Given the description of an element on the screen output the (x, y) to click on. 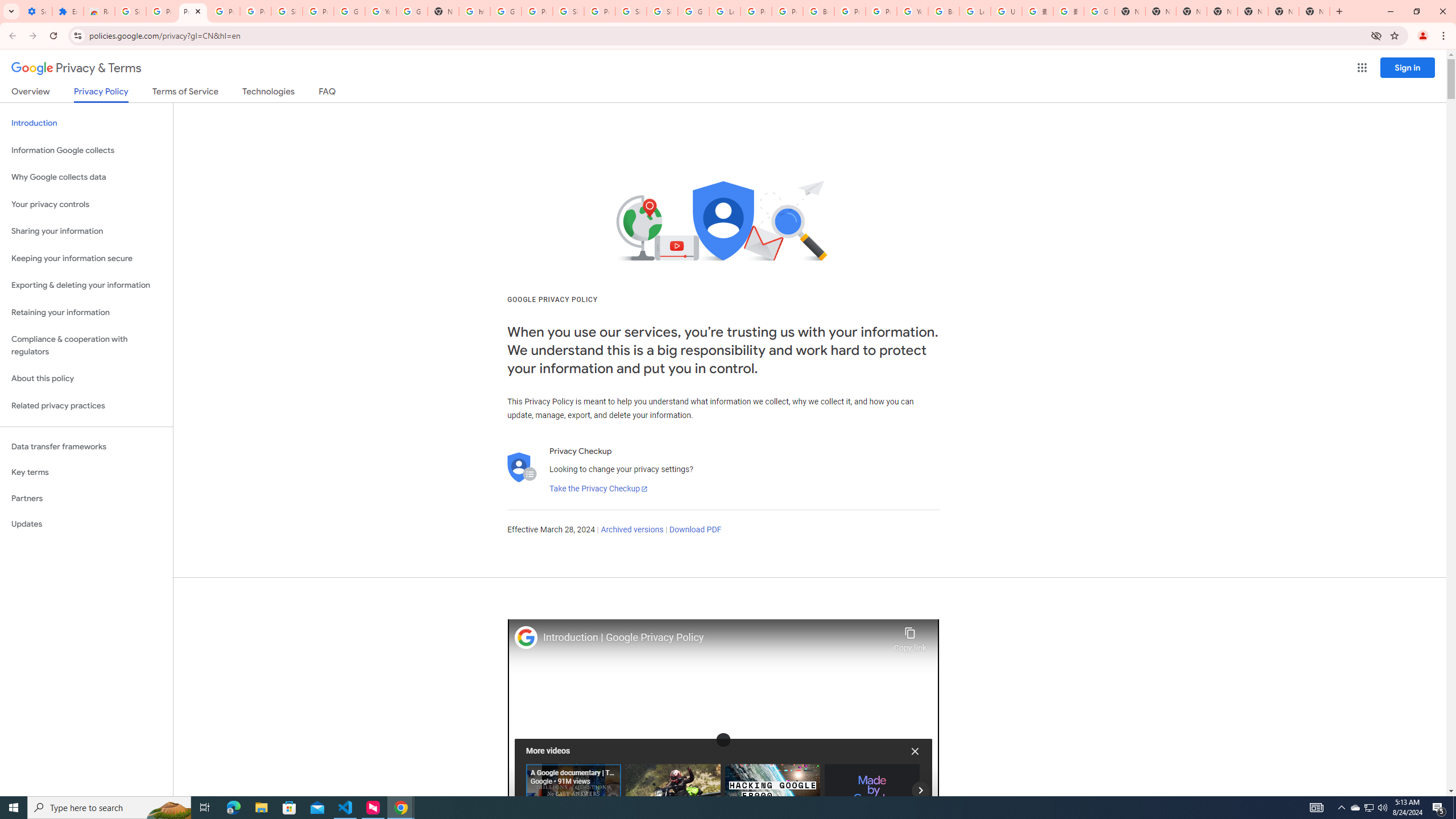
The Guardians | SEARCH ON (673, 789)
New Tab (1222, 11)
Sign in - Google Accounts (286, 11)
Introduction | Google Privacy Policy (715, 637)
Extensions (67, 11)
Data transfer frameworks (86, 446)
Sign in - Google Accounts (130, 11)
New Tab (1314, 11)
